Given the description of an element on the screen output the (x, y) to click on. 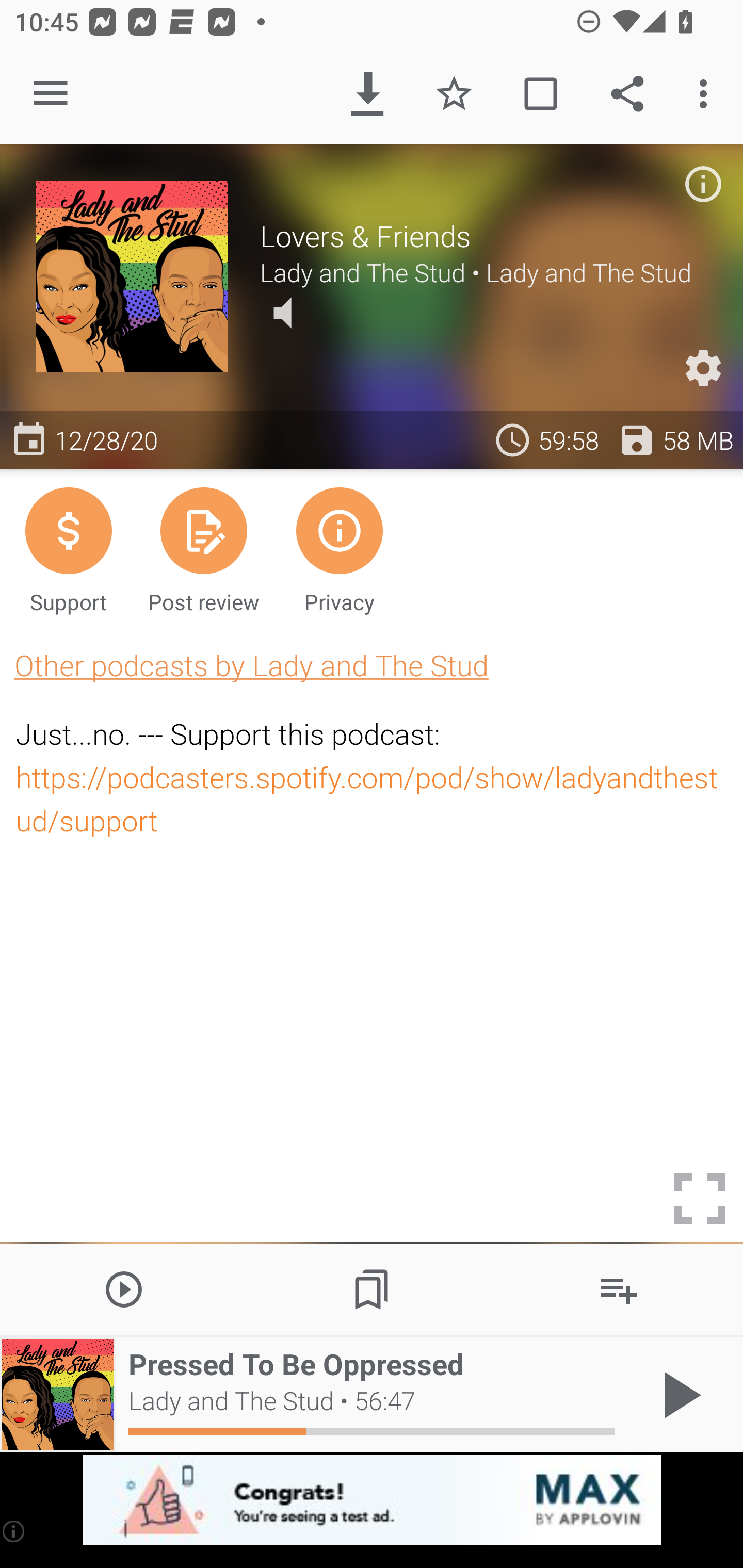
Open navigation sidebar (50, 93)
Download (366, 93)
Favorite (453, 93)
Mark played / unplayed (540, 93)
Share (626, 93)
More options (706, 93)
Podcast description (703, 184)
Lovers & Friends (483, 235)
Custom Settings (703, 368)
Support (68, 549)
Post review (203, 549)
Privacy (339, 549)
Other podcasts by Lady and The Stud (251, 665)
Toggle full screen mode (699, 1198)
Play (123, 1288)
Chapters / Bookmarks (371, 1288)
Add to Playlist (619, 1288)
Play / Pause (677, 1394)
app-monetization (371, 1500)
(i) (14, 1531)
